Given the description of an element on the screen output the (x, y) to click on. 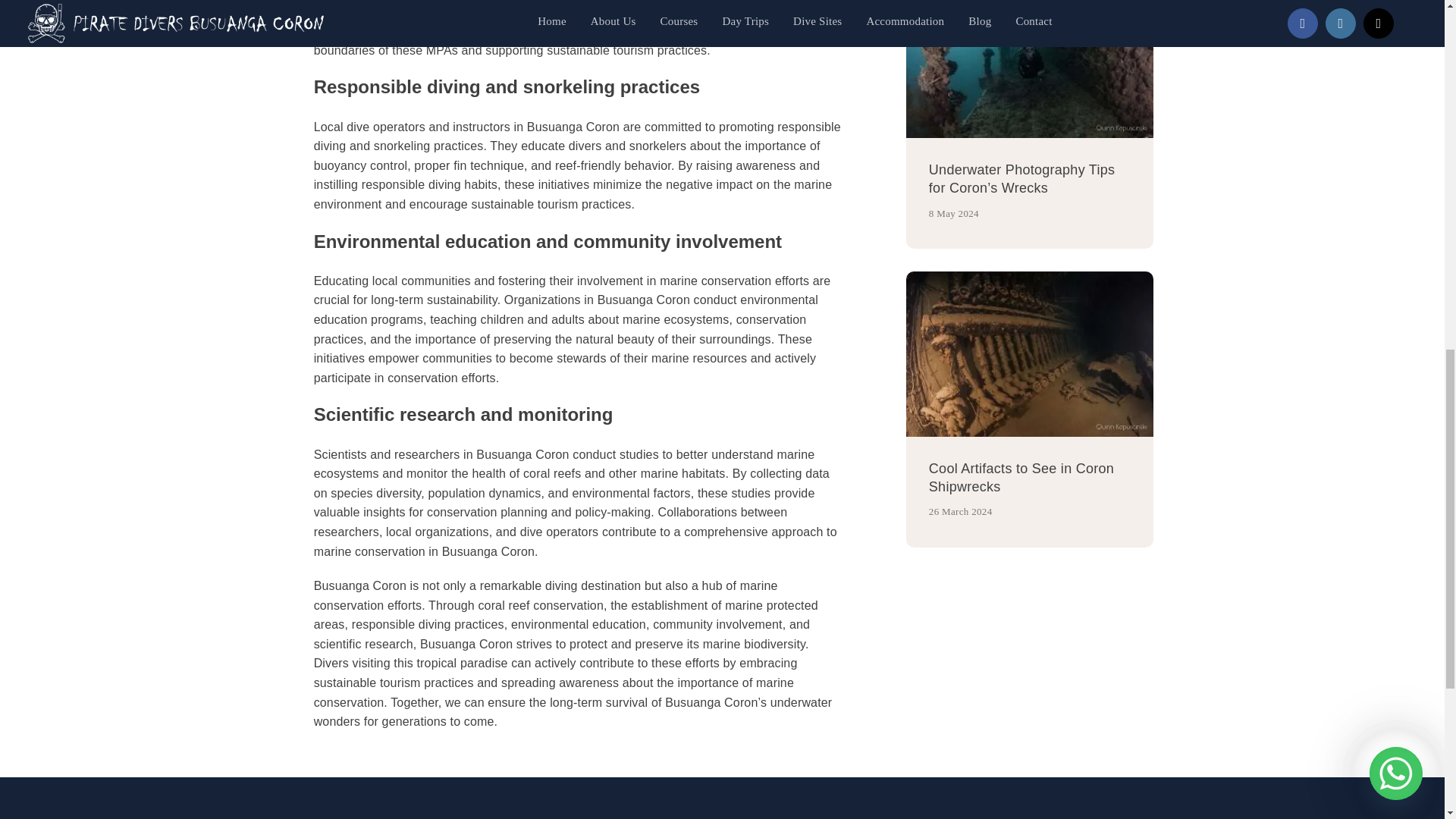
oki3 (1029, 69)
irako6 (1029, 353)
